Given the description of an element on the screen output the (x, y) to click on. 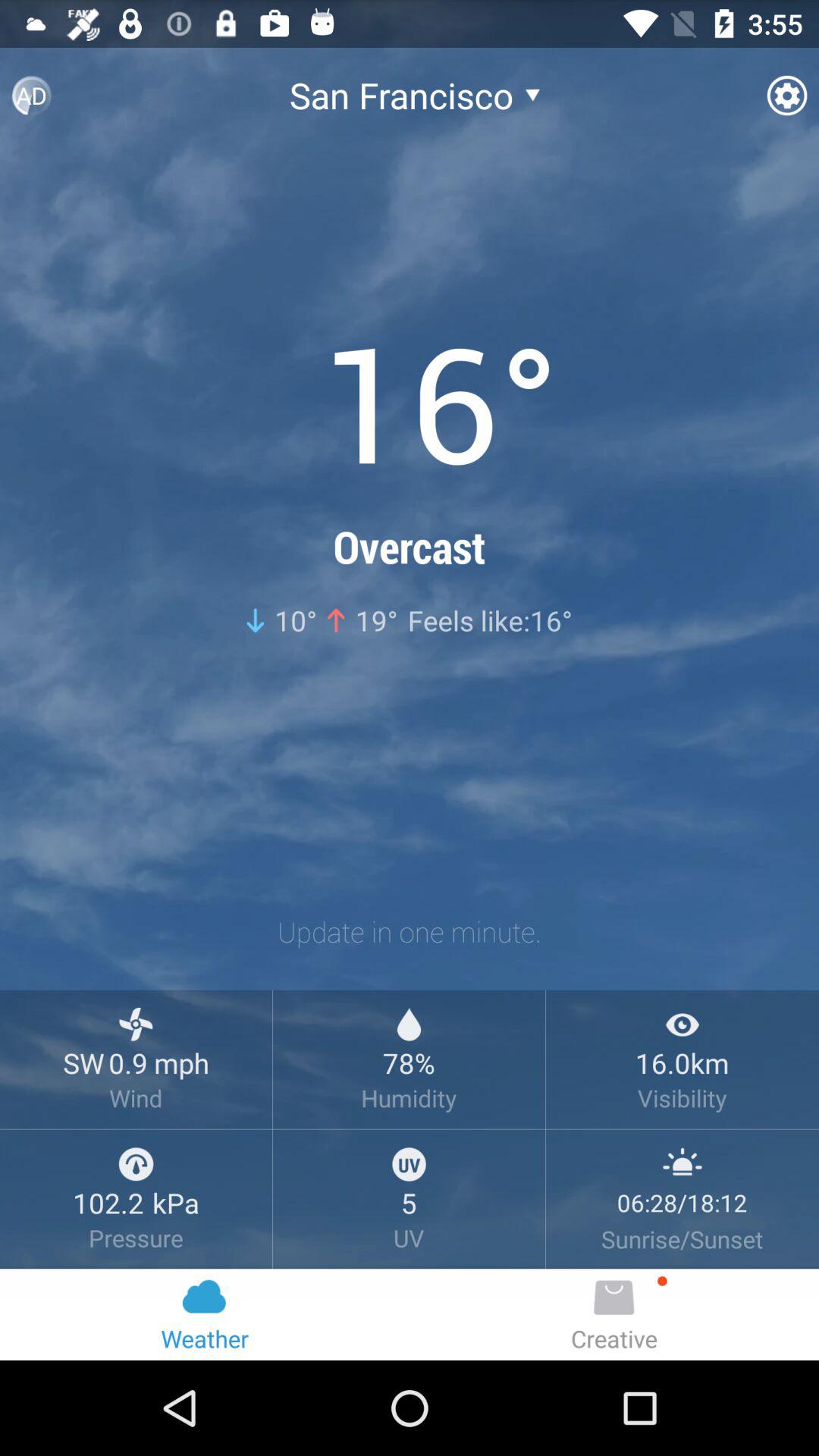
select the wind button on the left bottom (136, 1023)
